Given the description of an element on the screen output the (x, y) to click on. 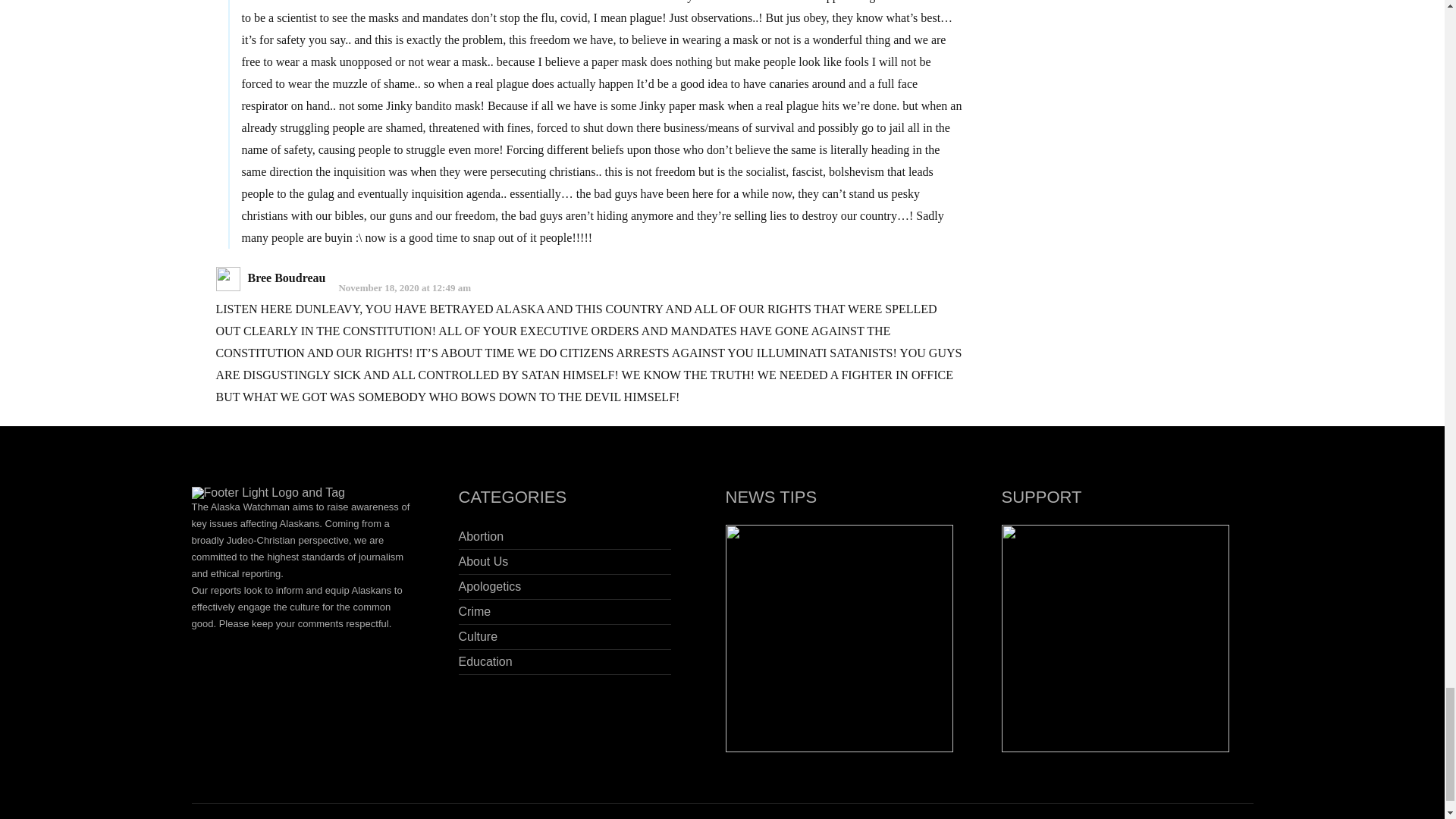
Footer Light Logo and Tag (267, 492)
